Given the description of an element on the screen output the (x, y) to click on. 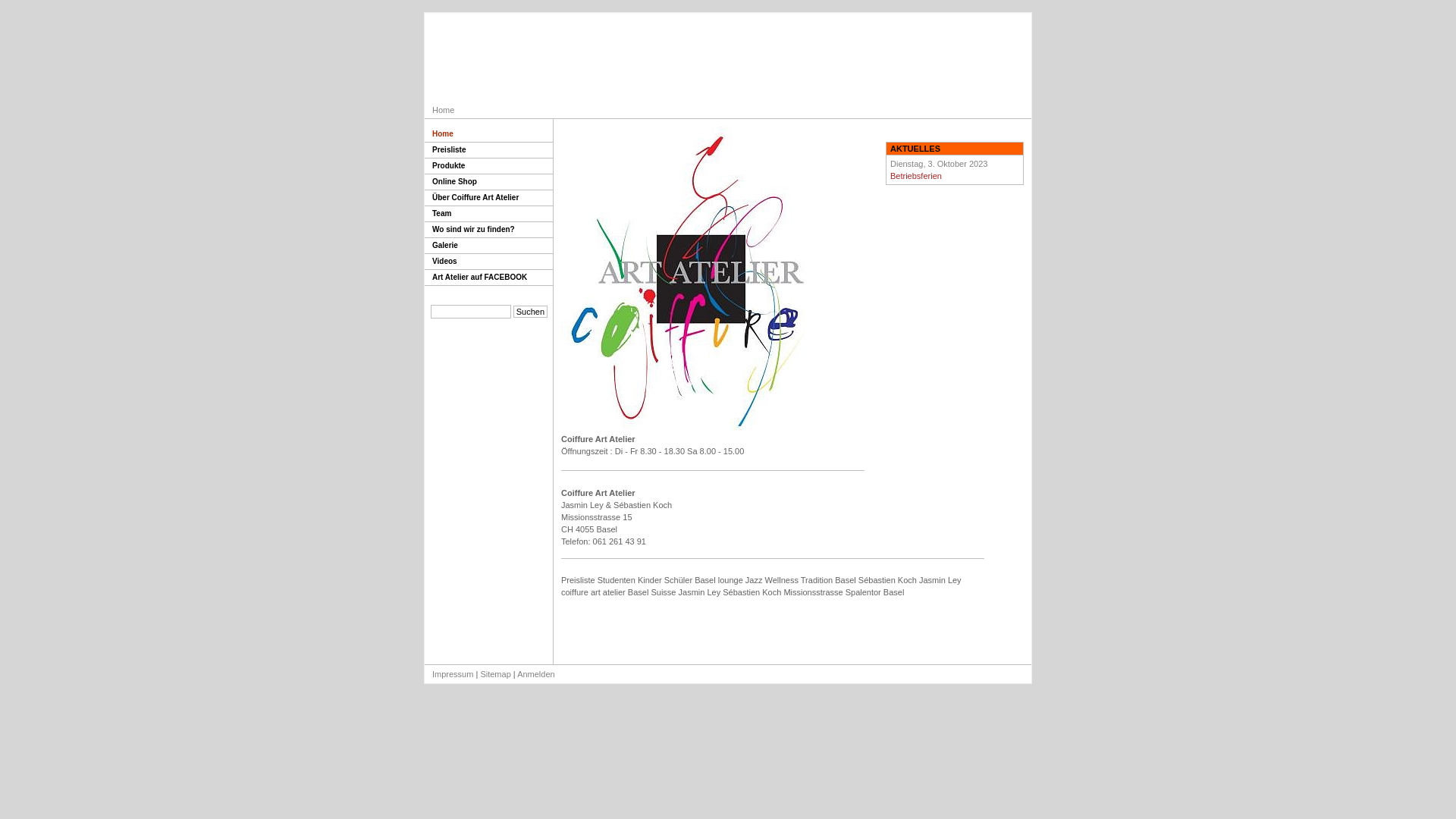
Jasmin Ley Element type: text (699, 591)
Galerie Element type: text (488, 246)
Spalentor Element type: text (863, 591)
lounge Element type: text (730, 579)
Jasmin Ley Element type: text (940, 579)
Jazz Element type: text (753, 579)
AKTUELLES Element type: text (913, 148)
Team Element type: text (488, 214)
Betriebsferien Element type: text (915, 175)
Online Shop Element type: text (488, 182)
Home Element type: text (443, 109)
Kinder Element type: text (649, 579)
Videos Element type: text (488, 261)
Wo sind wir zu finden? Element type: text (488, 230)
Basel Element type: text (704, 579)
Missionsstrasse Element type: text (812, 591)
Sitemap Element type: text (495, 673)
Preisliste Element type: text (578, 579)
Tradition Element type: text (816, 579)
Impressum Element type: text (452, 673)
Basel Element type: text (845, 579)
Home Element type: text (488, 134)
Basel Element type: text (893, 591)
Anmelden Element type: text (536, 673)
Produkte Element type: text (488, 166)
Studenten Element type: text (616, 579)
Basel Element type: text (638, 591)
Suchen Element type: text (530, 311)
coiffure art atelier Element type: text (593, 591)
Preisliste Element type: text (488, 150)
Suisse Element type: text (662, 591)
Art Atelier auf FACEBOOK Element type: text (488, 277)
Wellness Element type: text (781, 579)
